Given the description of an element on the screen output the (x, y) to click on. 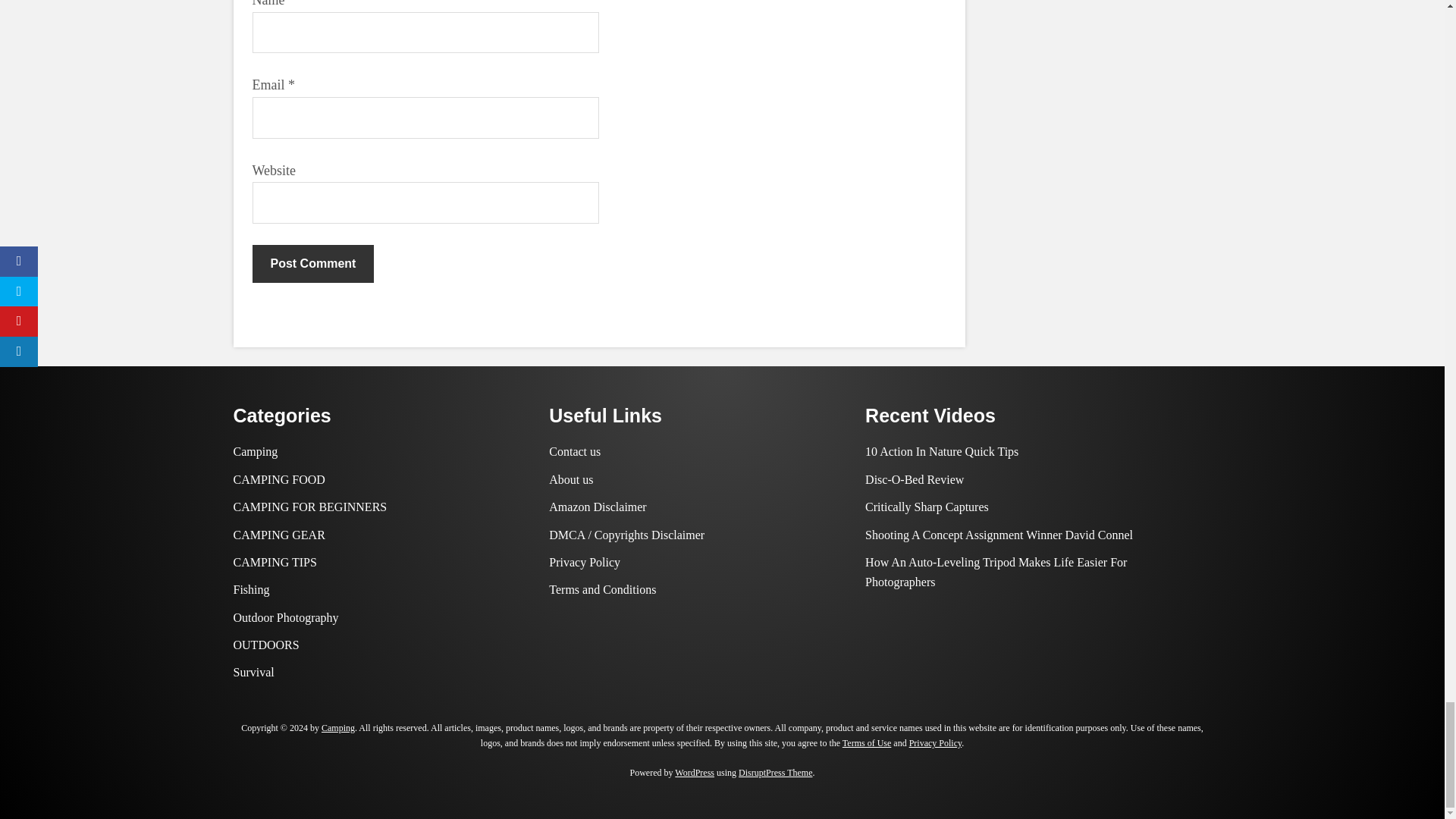
Post Comment (312, 263)
